Given the description of an element on the screen output the (x, y) to click on. 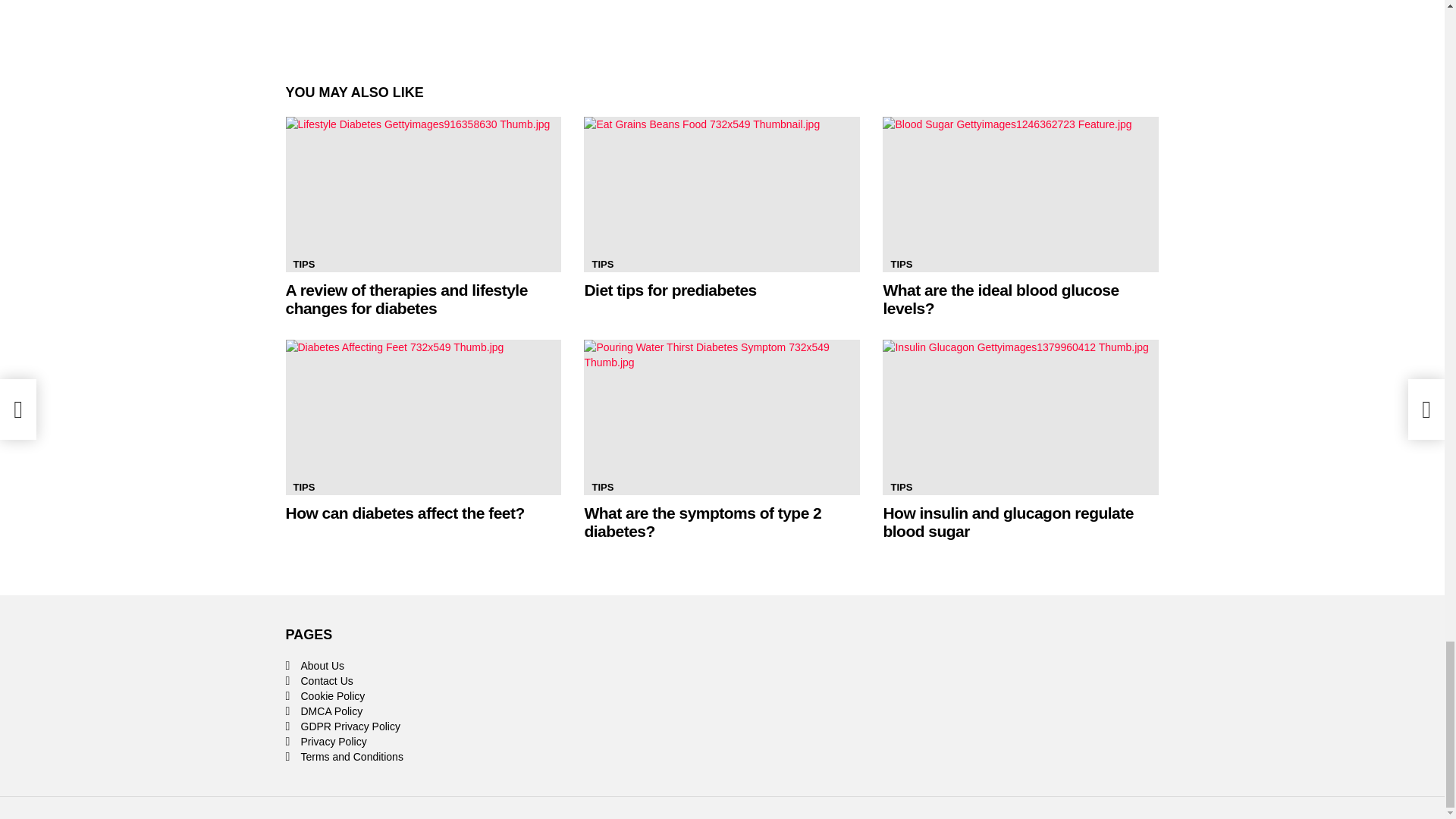
Diet tips for prediabetes (669, 289)
A review of therapies and lifestyle changes for diabetes (406, 298)
TIPS (602, 264)
TIPS (303, 264)
